Given the description of an element on the screen output the (x, y) to click on. 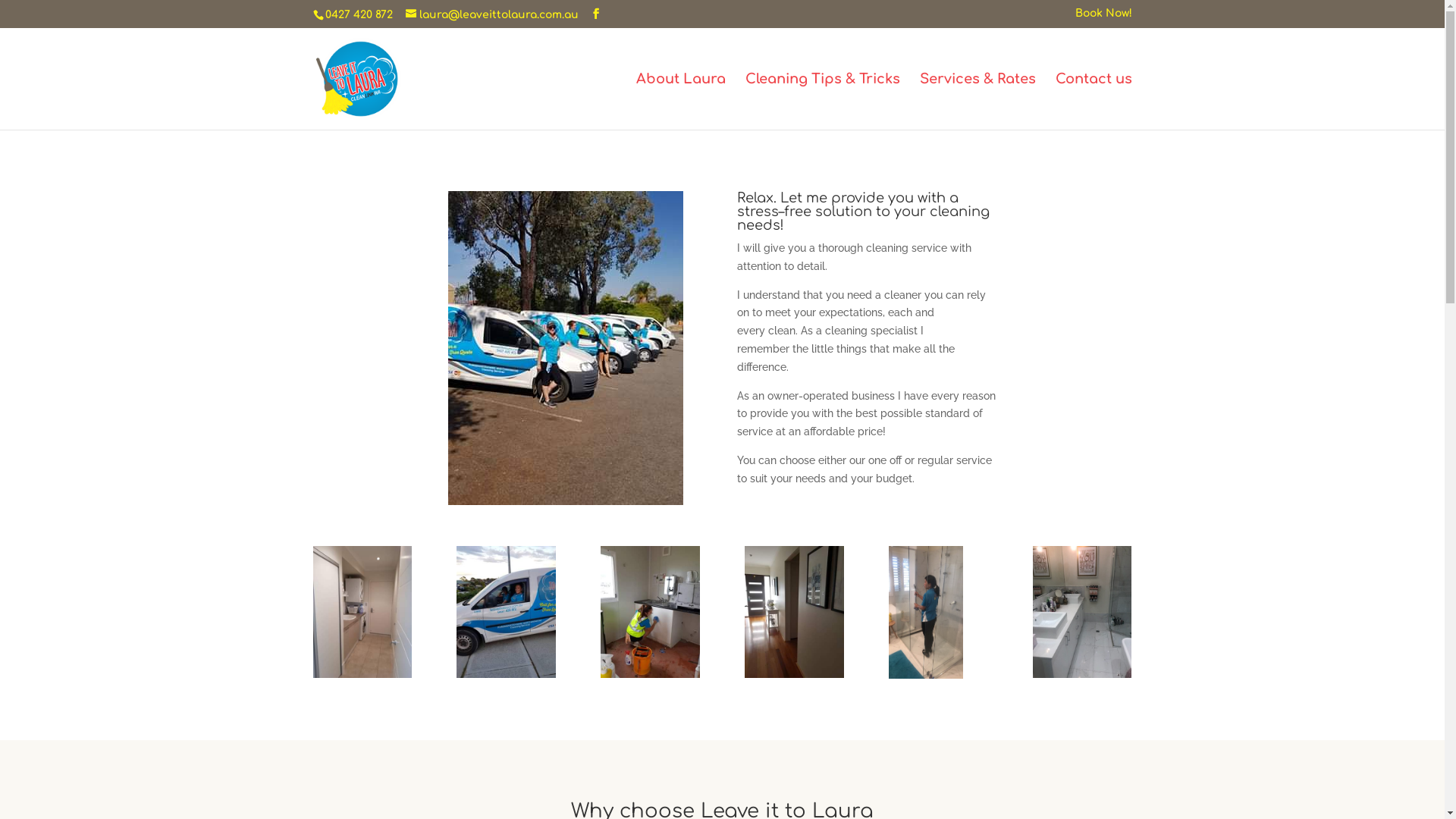
Services & Rates Element type: text (977, 101)
laura@leaveittolaura.com.au Element type: text (490, 14)
Contact us Element type: text (1093, 101)
Book Now! Element type: text (1103, 16)
Cleaning Tips & Tricks Element type: text (821, 101)
About Laura Element type: text (679, 101)
